Given the description of an element on the screen output the (x, y) to click on. 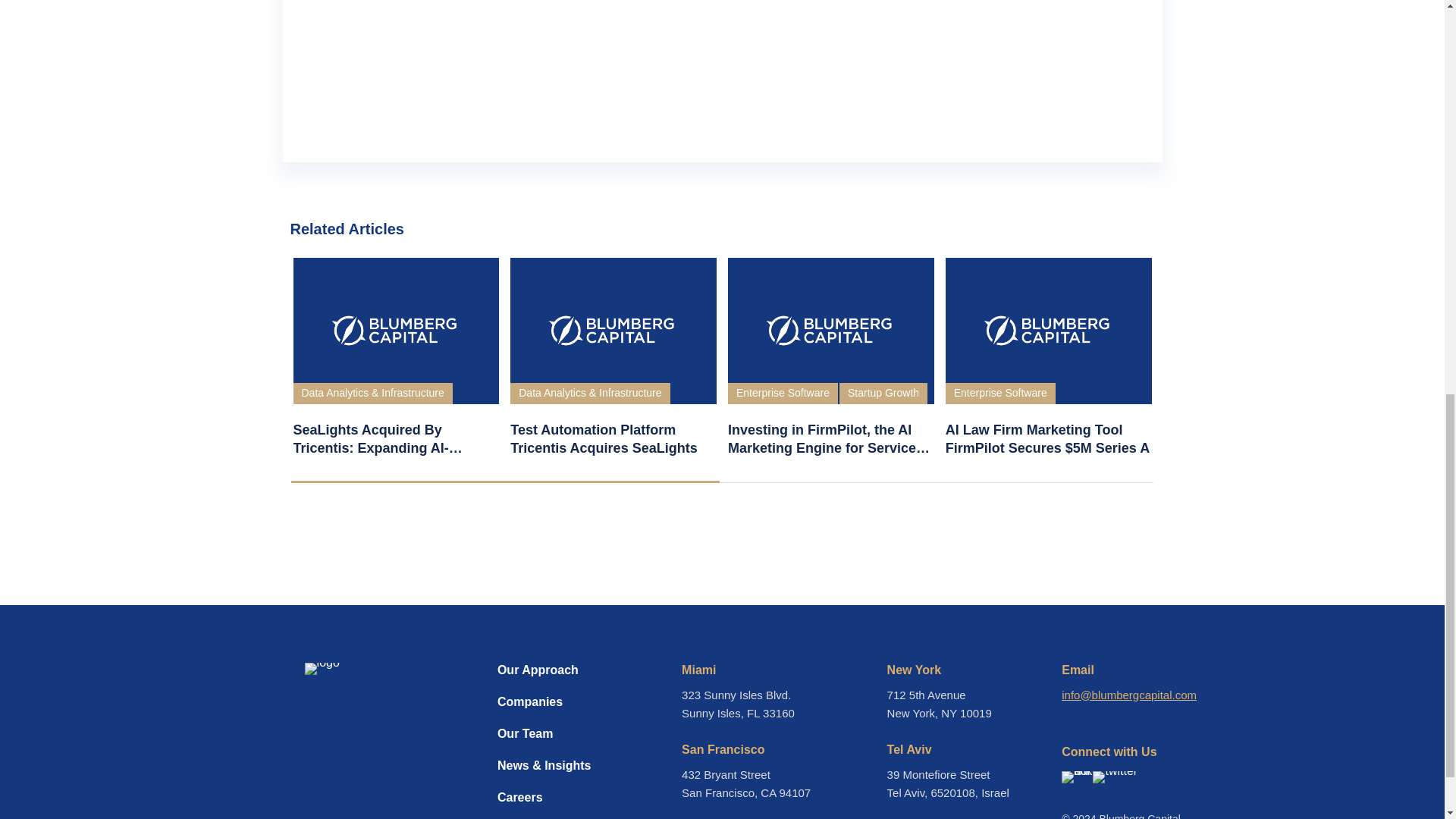
logo (321, 668)
Test Automation Platform Tricentis Acquires SeaLights (613, 438)
Test Automation Platform Tricentis Acquires SeaLights (613, 438)
Startup Growth (883, 393)
Enterprise Software (783, 393)
Enterprise Software (999, 393)
Companies (549, 709)
